Given the description of an element on the screen output the (x, y) to click on. 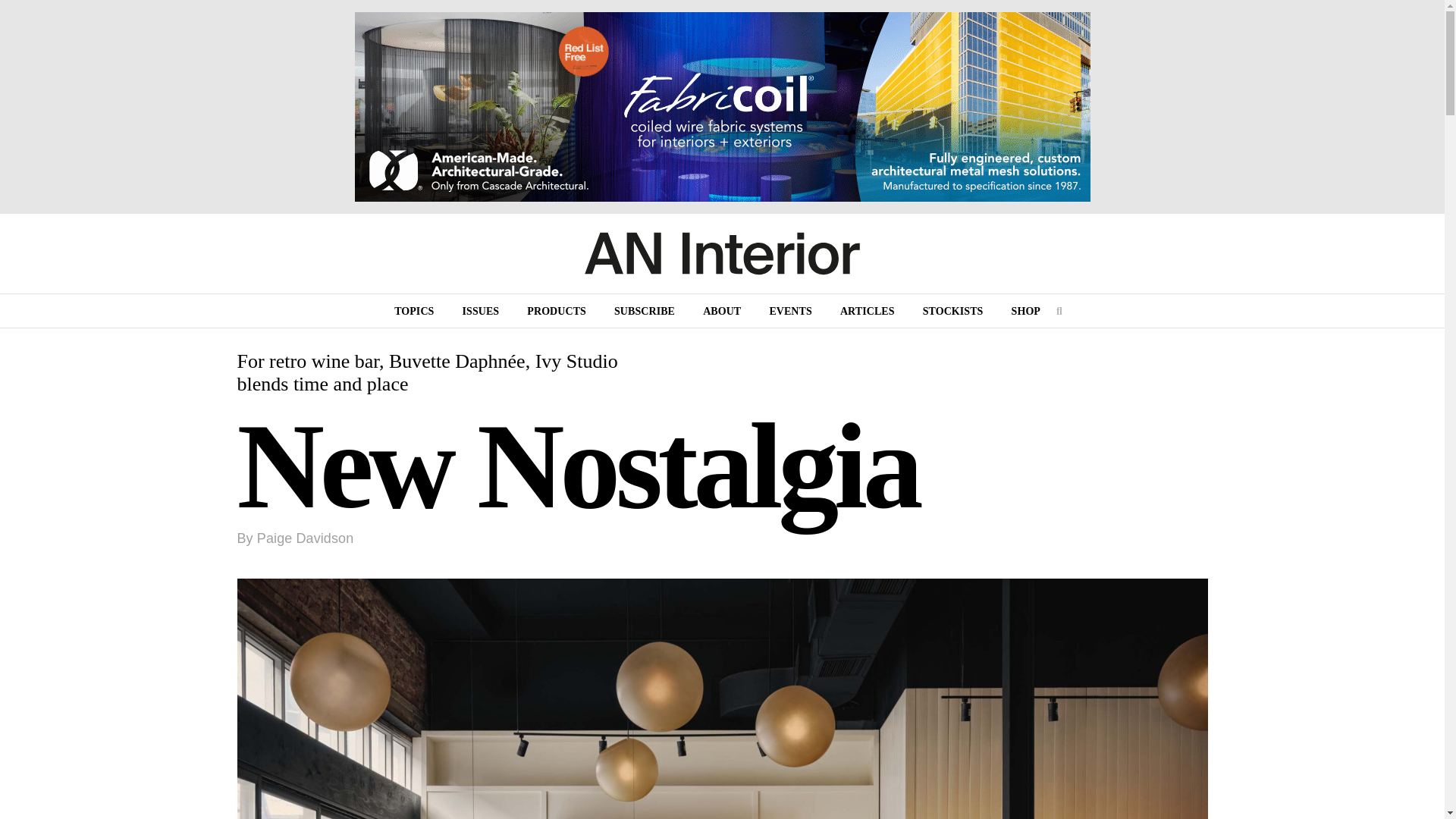
EVENTS (790, 311)
PRODUCTS (556, 311)
Issues (480, 311)
PRODUCTS (556, 311)
Paige Davidson (305, 538)
ARTICLES (867, 311)
Events (790, 311)
SUBSCRIBE (644, 311)
Articles (867, 311)
SUBSCRIBE (644, 311)
About (721, 311)
Topics (413, 311)
Stockists (953, 311)
TOPICS (413, 311)
SHOP (1025, 311)
